Given the description of an element on the screen output the (x, y) to click on. 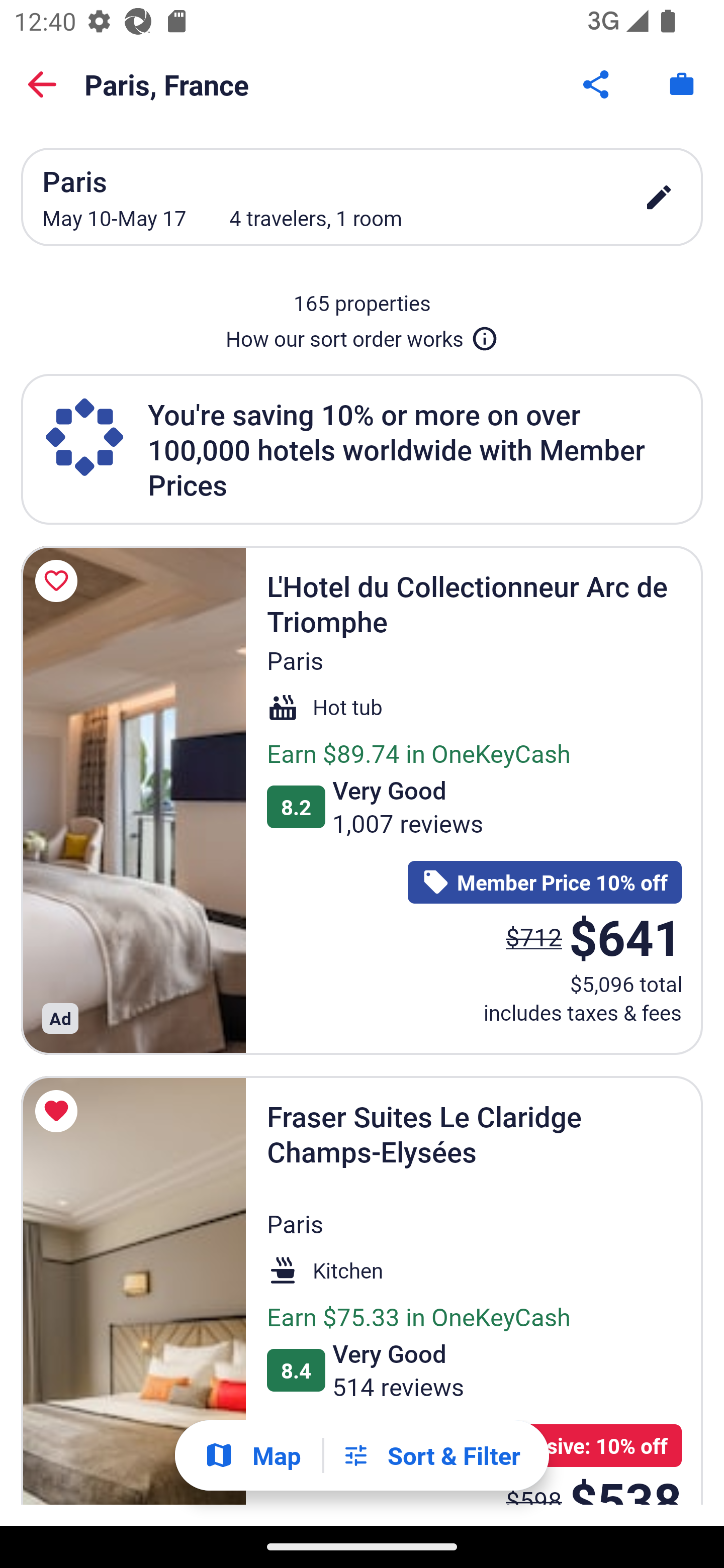
Back (42, 84)
Share Button (597, 84)
Trips. Button (681, 84)
Paris May 10-May 17 4 travelers, 1 room edit (361, 196)
How our sort order works (361, 334)
L'Hotel du Collectionneur Arc de Triomphe (133, 800)
$712 The price was $712 (533, 936)
Fraser Suites Le Claridge Champs-Elysées (133, 1290)
Filters Sort & Filter Filters Button (430, 1455)
Show map Map Show map Button (252, 1455)
